Given the description of an element on the screen output the (x, y) to click on. 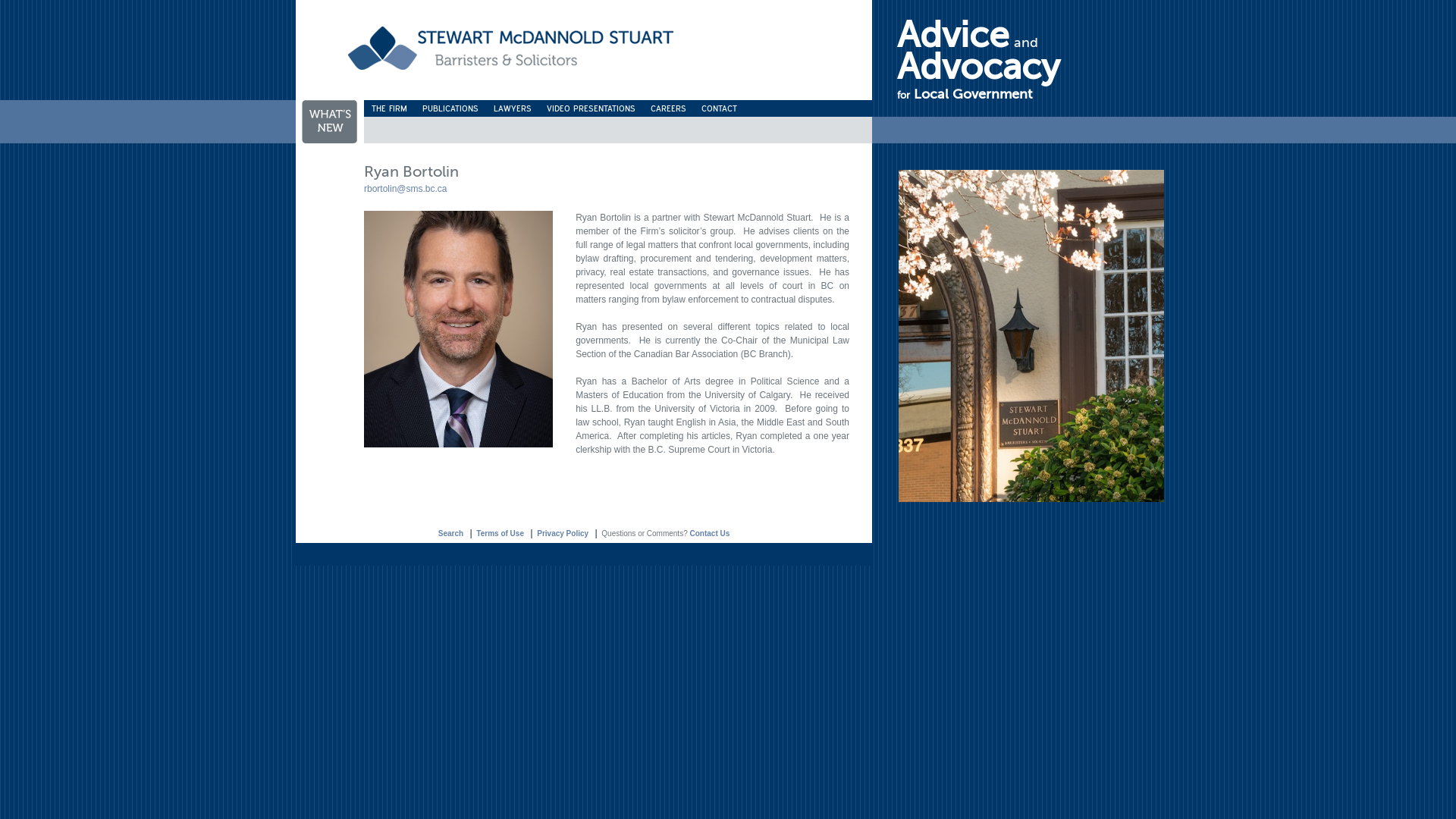
THE FIRM Element type: text (389, 108)
PUBLICATIONS Element type: text (450, 108)
LAWYERS Element type: text (512, 108)
Contact Us Element type: text (709, 533)
Terms of Use Element type: text (500, 533)
CAREERS Element type: text (668, 108)
Privacy Policy Element type: text (562, 533)
VIDEO PRESENTATIONS Element type: text (591, 108)
rbortolin@sms.bc.ca Element type: text (405, 188)
CONTACT Element type: text (718, 108)
Search Element type: text (450, 533)
